Given the description of an element on the screen output the (x, y) to click on. 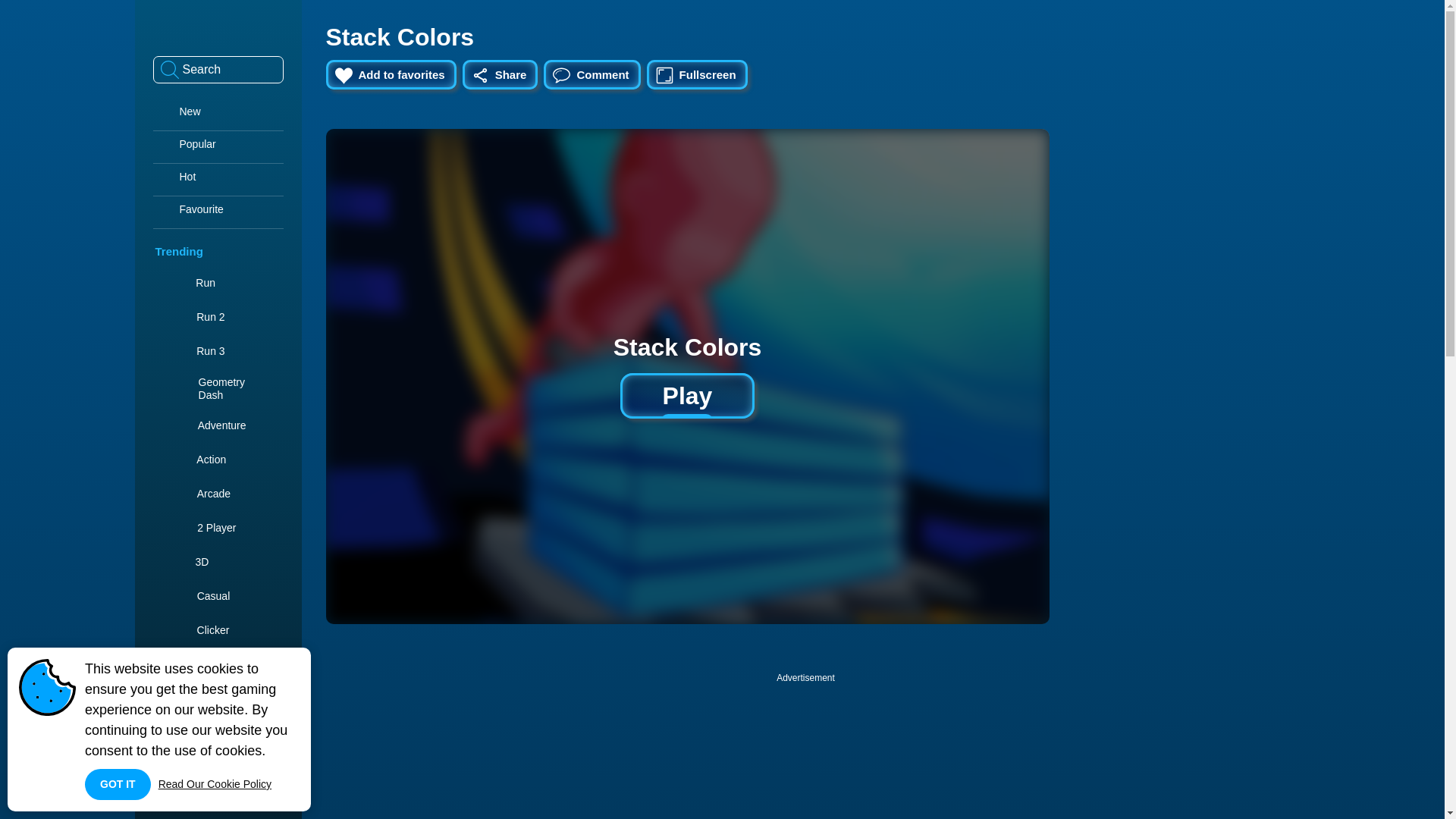
Multiplayer (210, 697)
Arcade (202, 492)
Run 3 (199, 349)
Casual (201, 595)
Run (194, 281)
Share (500, 74)
Run 3 (199, 349)
Add to favorites (391, 74)
Fullscreen (697, 74)
.IO (192, 664)
